Given the description of an element on the screen output the (x, y) to click on. 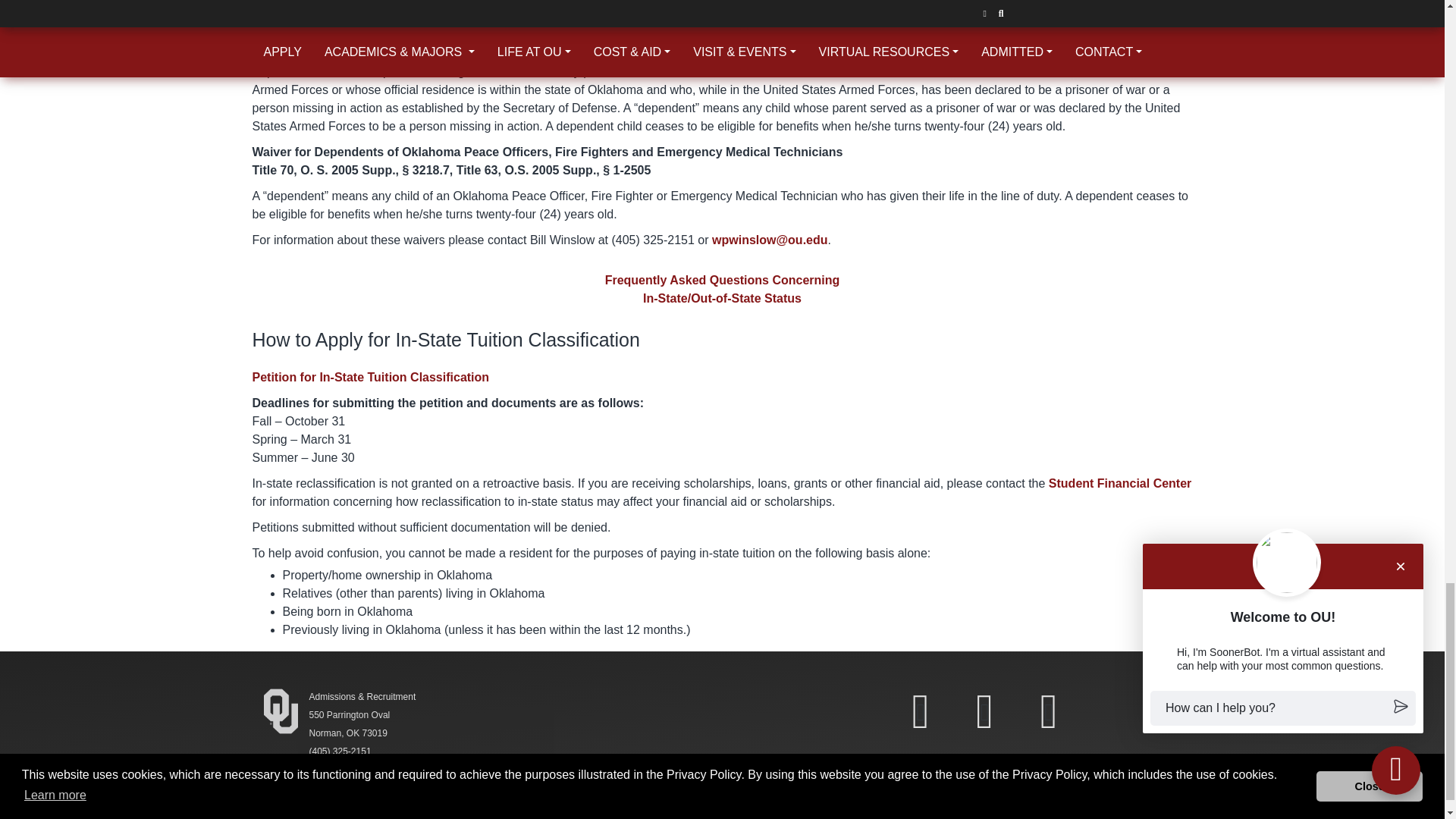
OU Admissions Instagram link (1047, 710)
OU Admissions Facebook link (919, 710)
OU Admissions Twitter link (984, 710)
